Given the description of an element on the screen output the (x, y) to click on. 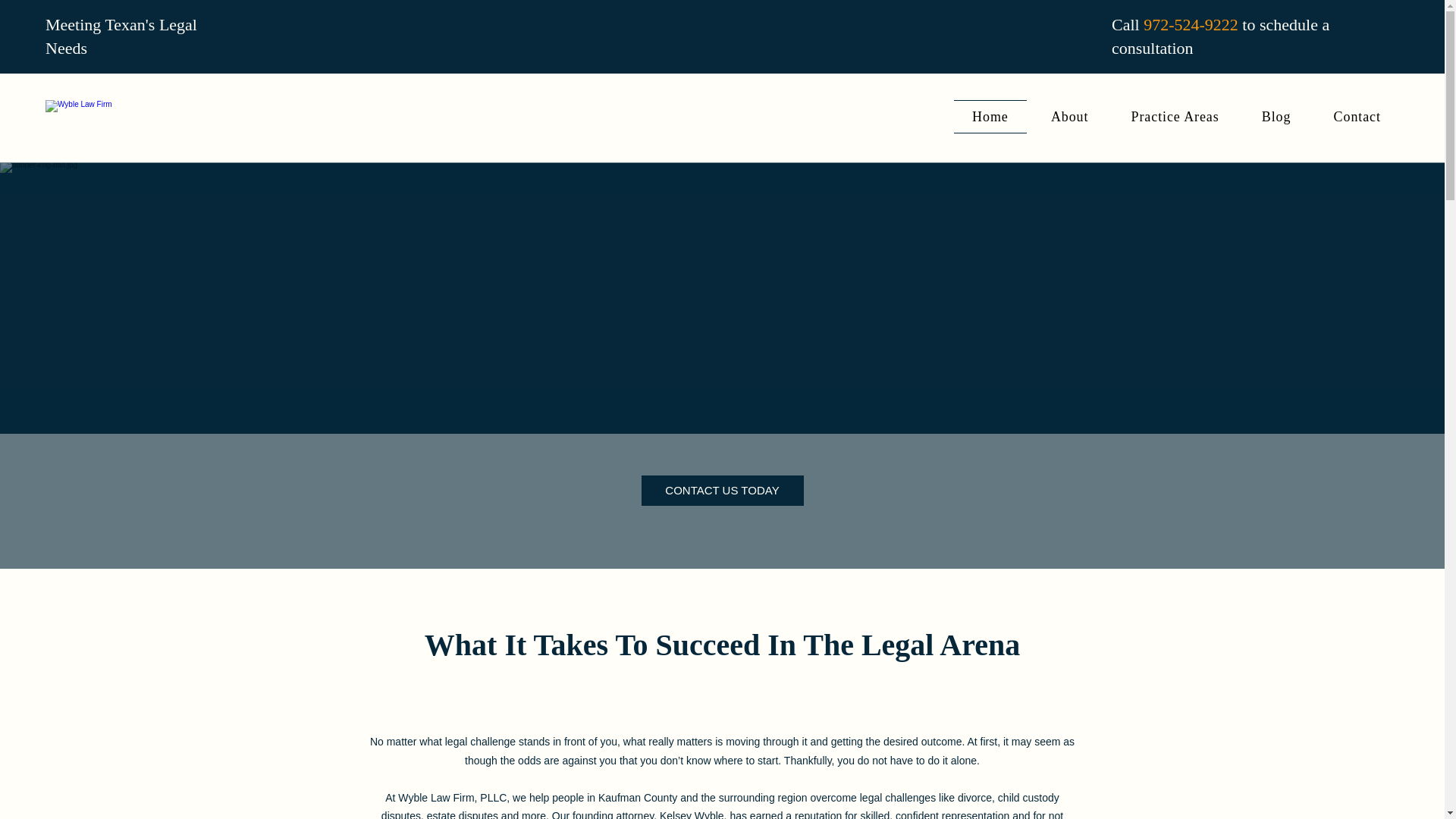
CONTACT US TODAY (722, 490)
Home (989, 116)
About (1069, 116)
Contact (1357, 116)
Blog (1275, 116)
